Given the description of an element on the screen output the (x, y) to click on. 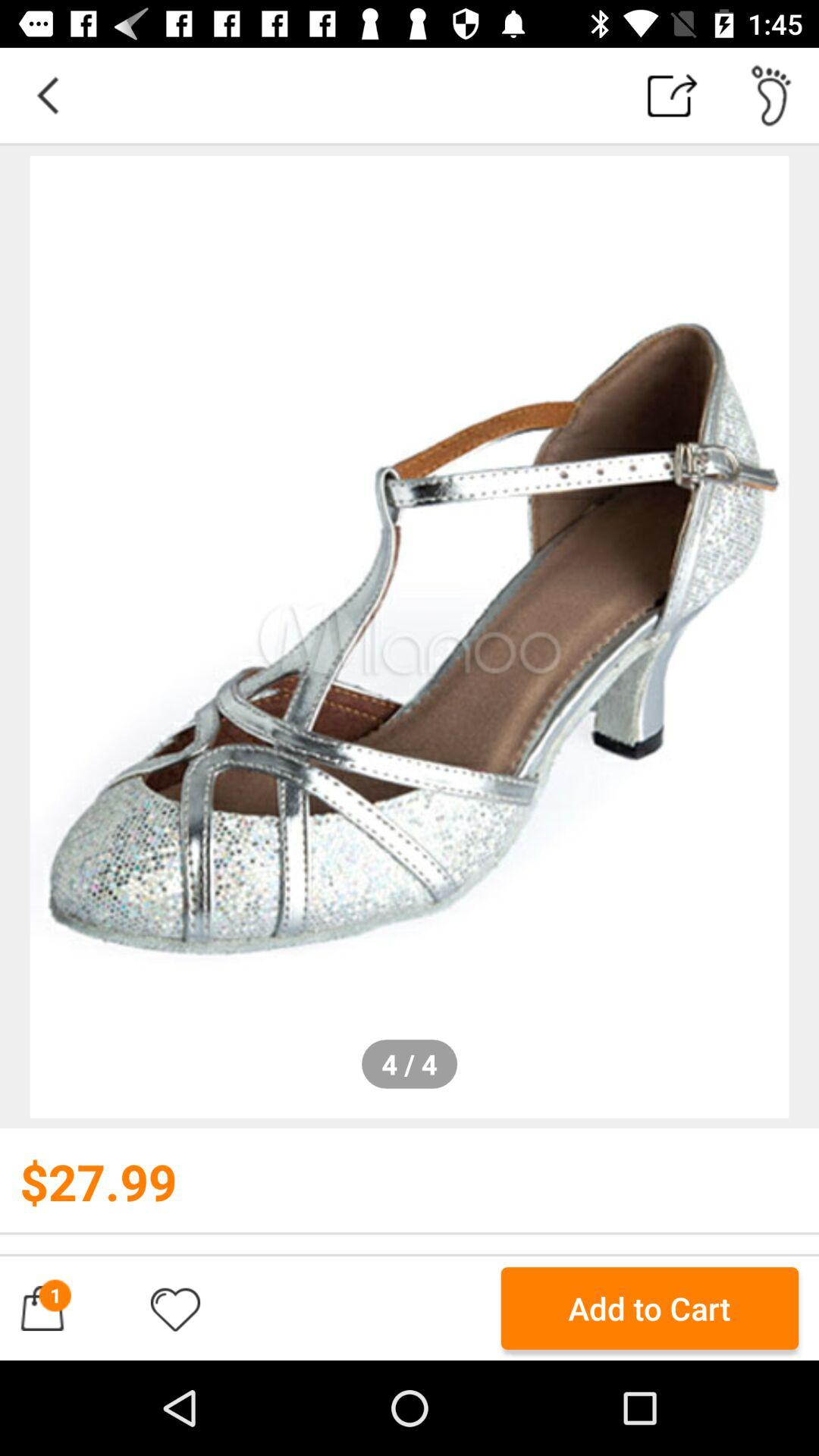
add as favorite (175, 1308)
